Given the description of an element on the screen output the (x, y) to click on. 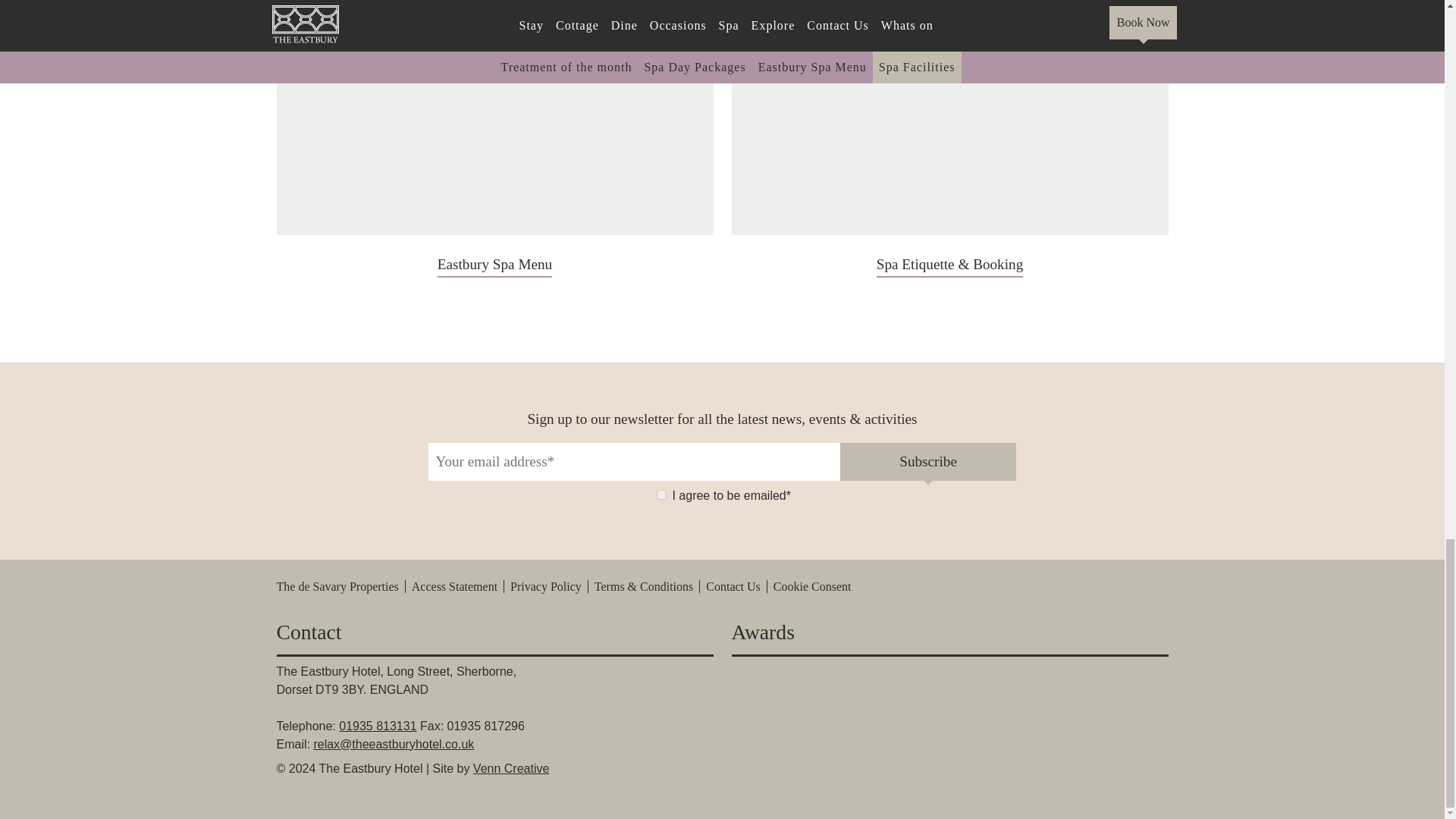
on (661, 493)
